Given the description of an element on the screen output the (x, y) to click on. 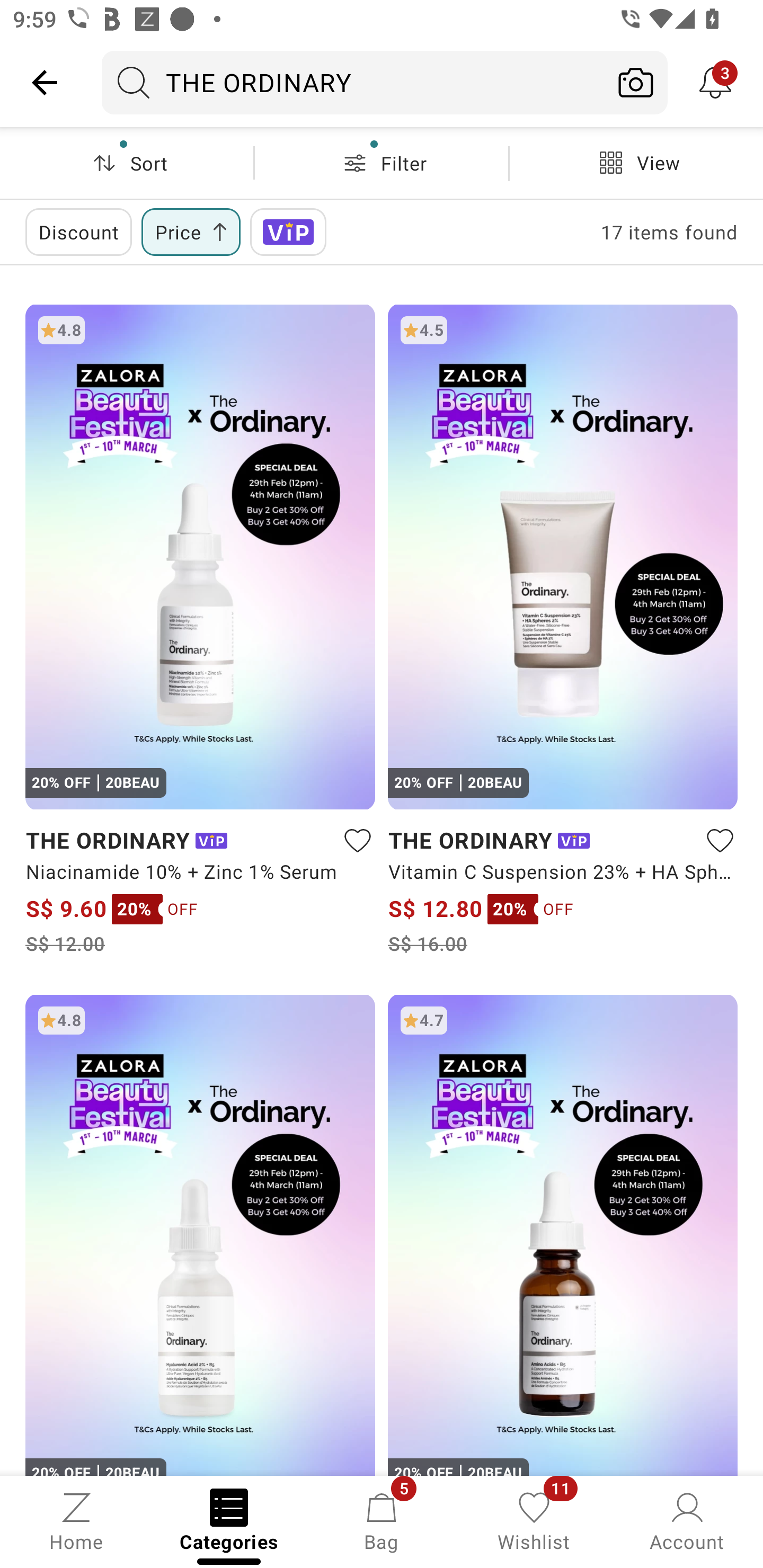
Navigate up (44, 82)
THE ORDINARY (352, 82)
Sort (126, 163)
Filter (381, 163)
View (636, 163)
Discount (78, 231)
Price (190, 231)
4.8 20% OFF 20BEAU (200, 1234)
4.7 20% OFF 20BEAU (562, 1234)
Home (76, 1519)
Bag, 5 new notifications Bag (381, 1519)
Wishlist, 11 new notifications Wishlist (533, 1519)
Account (686, 1519)
